Given the description of an element on the screen output the (x, y) to click on. 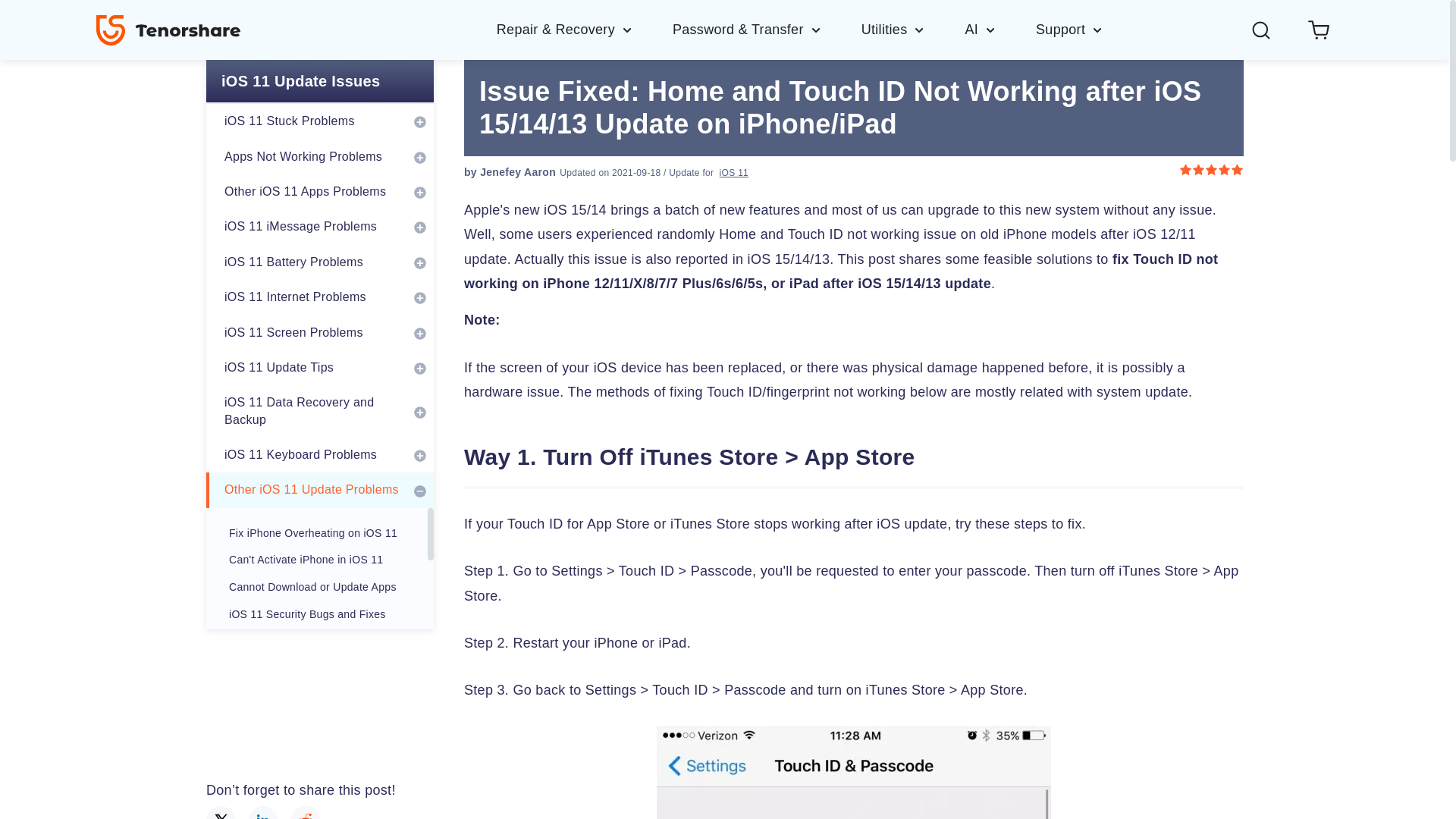
AI (999, 29)
Support (1069, 29)
Utilities (913, 29)
